Given the description of an element on the screen output the (x, y) to click on. 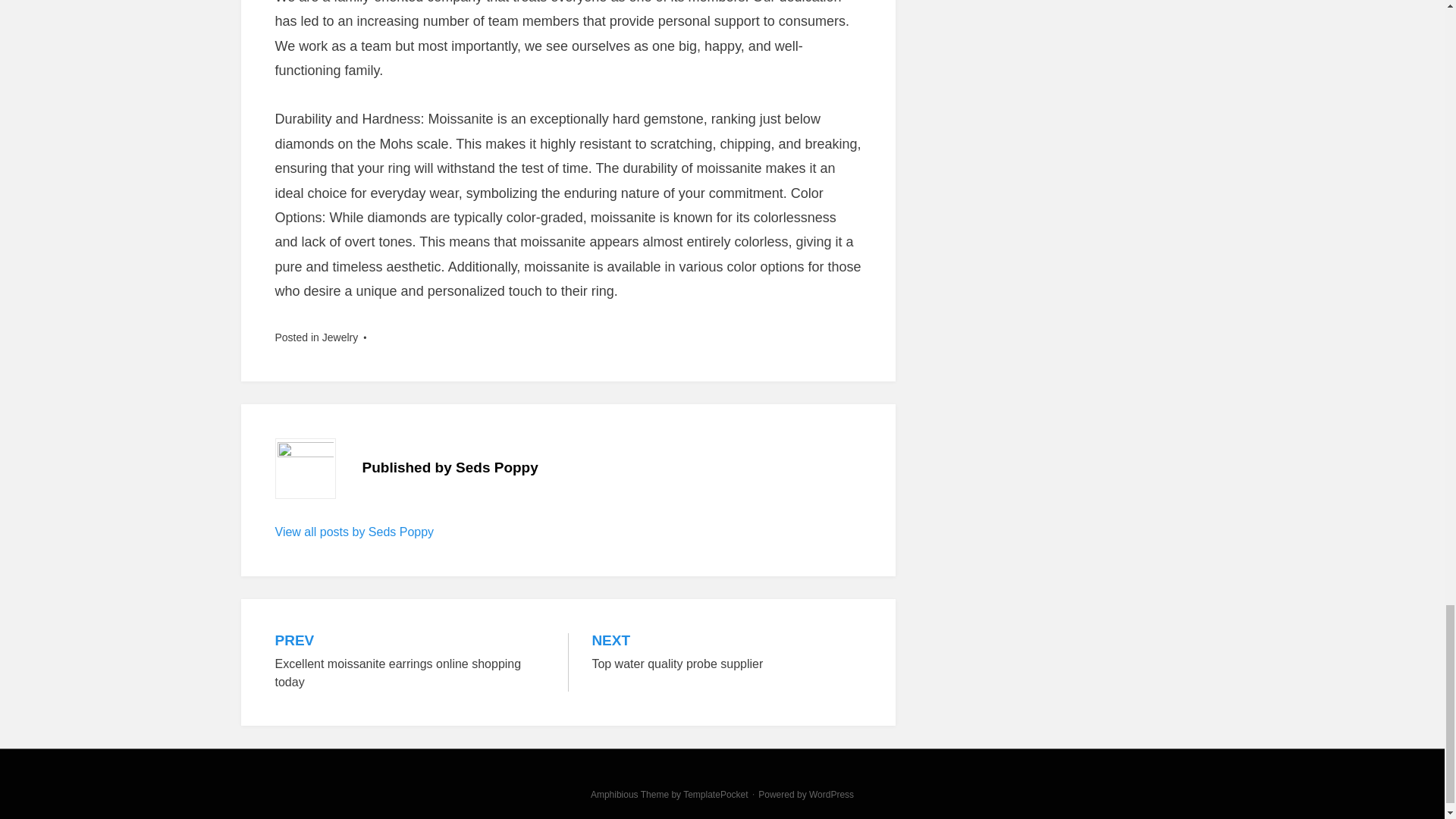
Jewelry (339, 337)
WordPress (831, 794)
WordPress (831, 794)
TemplatePocket (715, 794)
TemplatePocket (715, 794)
View all posts by Seds Poppy (354, 531)
